Given the description of an element on the screen output the (x, y) to click on. 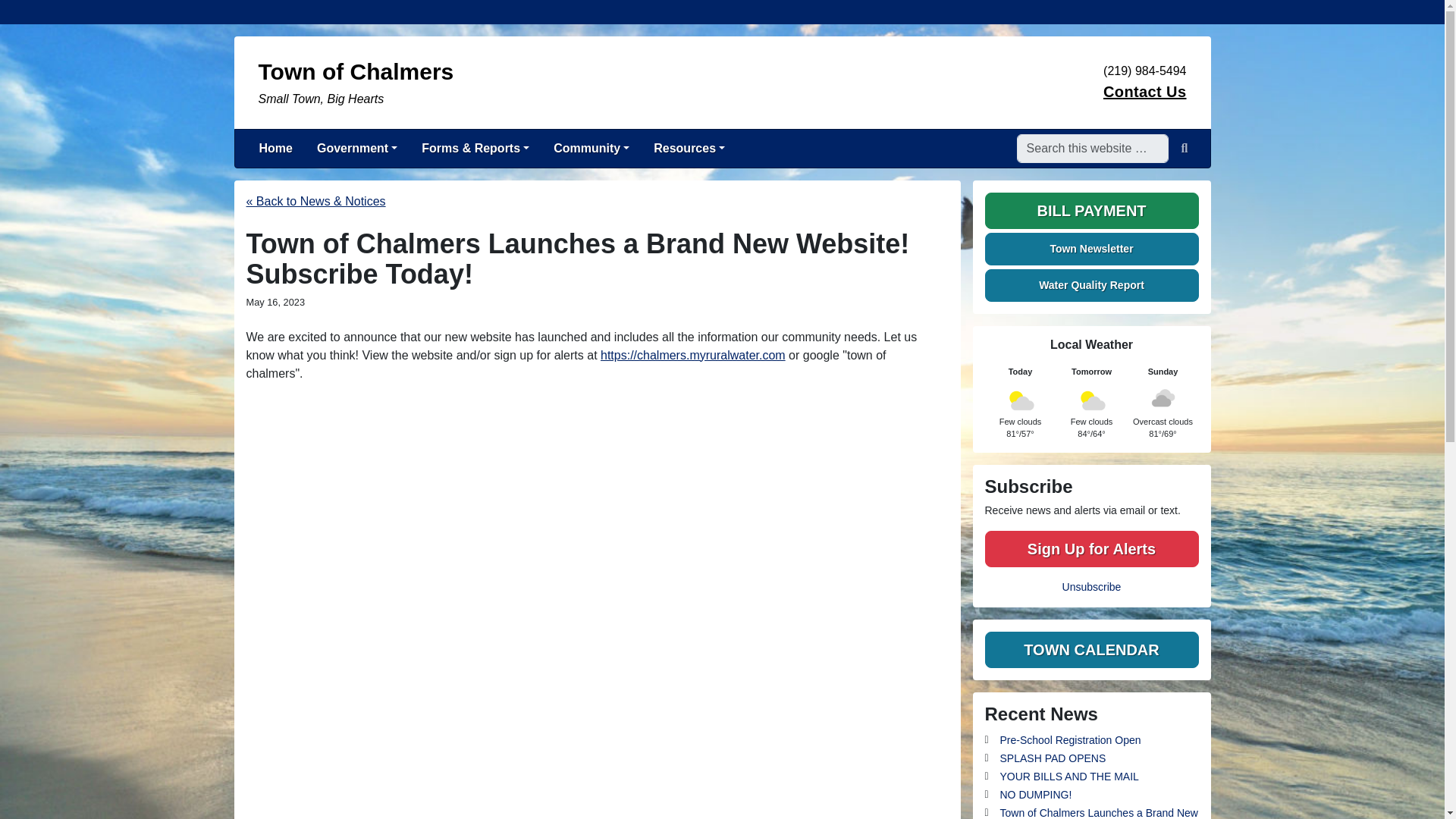
Contact Us (1144, 91)
Community (591, 148)
Resources (689, 148)
Government (602, 82)
BILL PAYMENT (356, 148)
Town Newsletter (1091, 210)
Search (1091, 248)
Home (1185, 148)
